Given the description of an element on the screen output the (x, y) to click on. 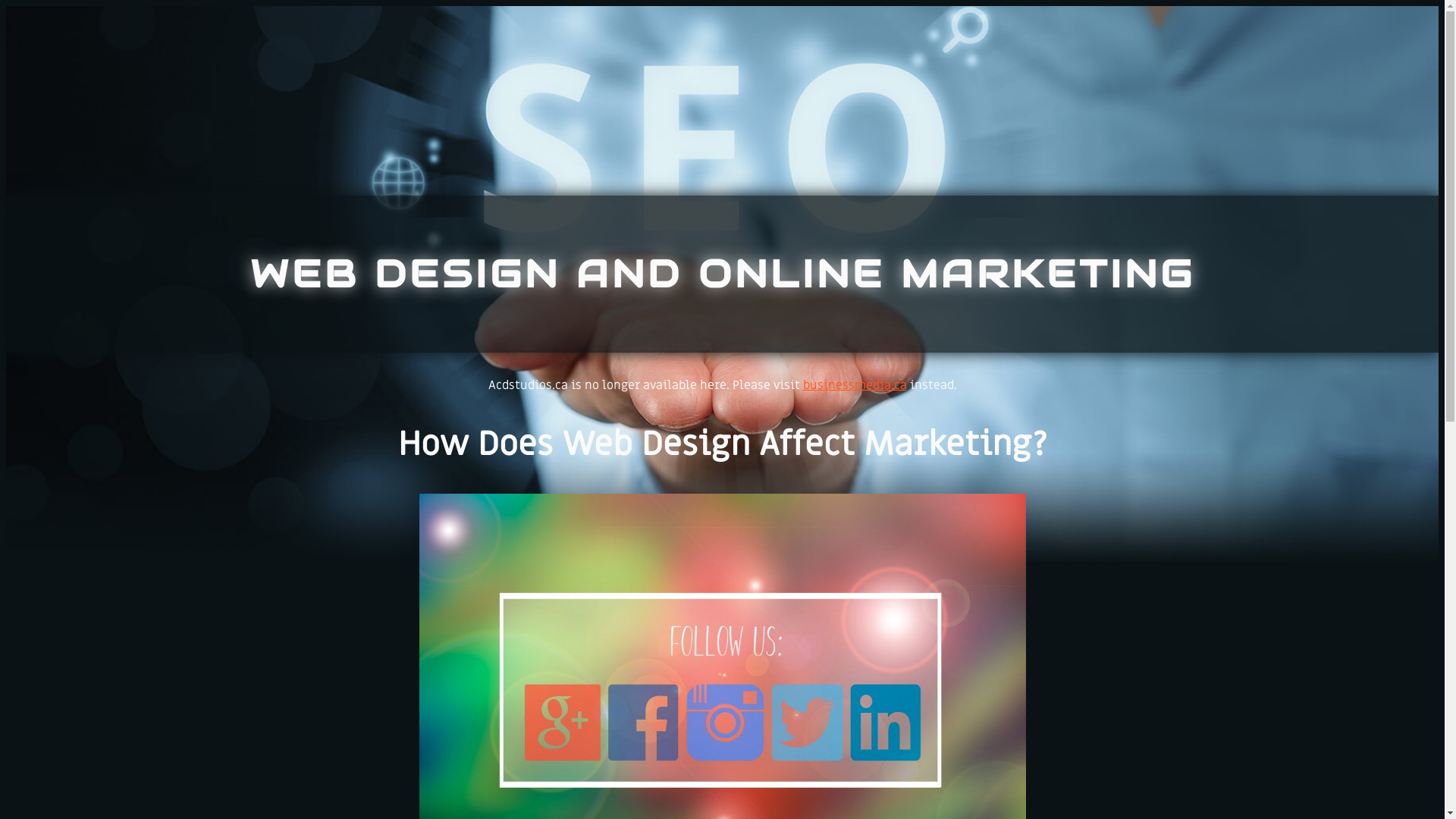
businessmedia.ca Element type: text (854, 384)
